Given the description of an element on the screen output the (x, y) to click on. 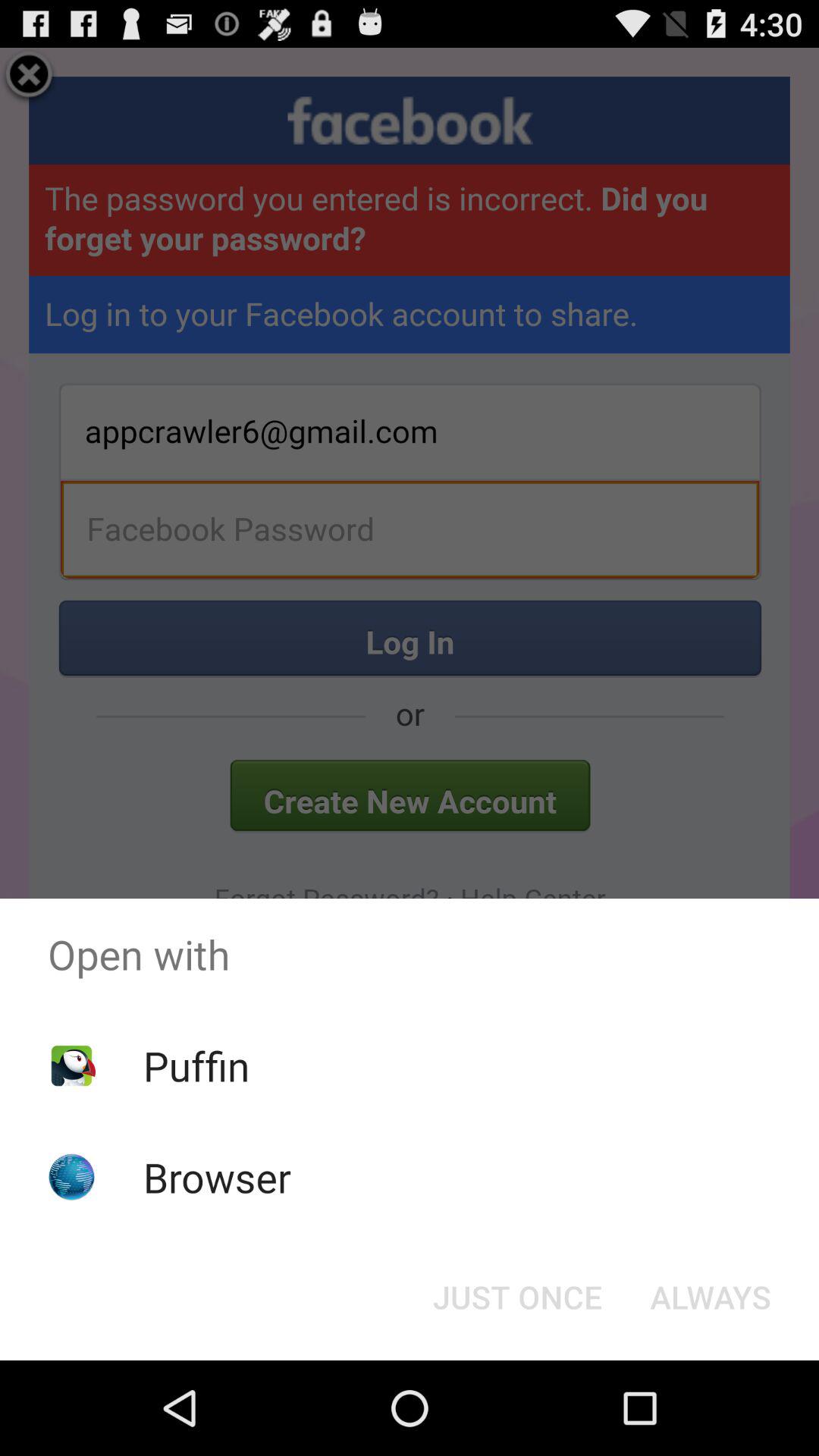
open always item (710, 1296)
